Given the description of an element on the screen output the (x, y) to click on. 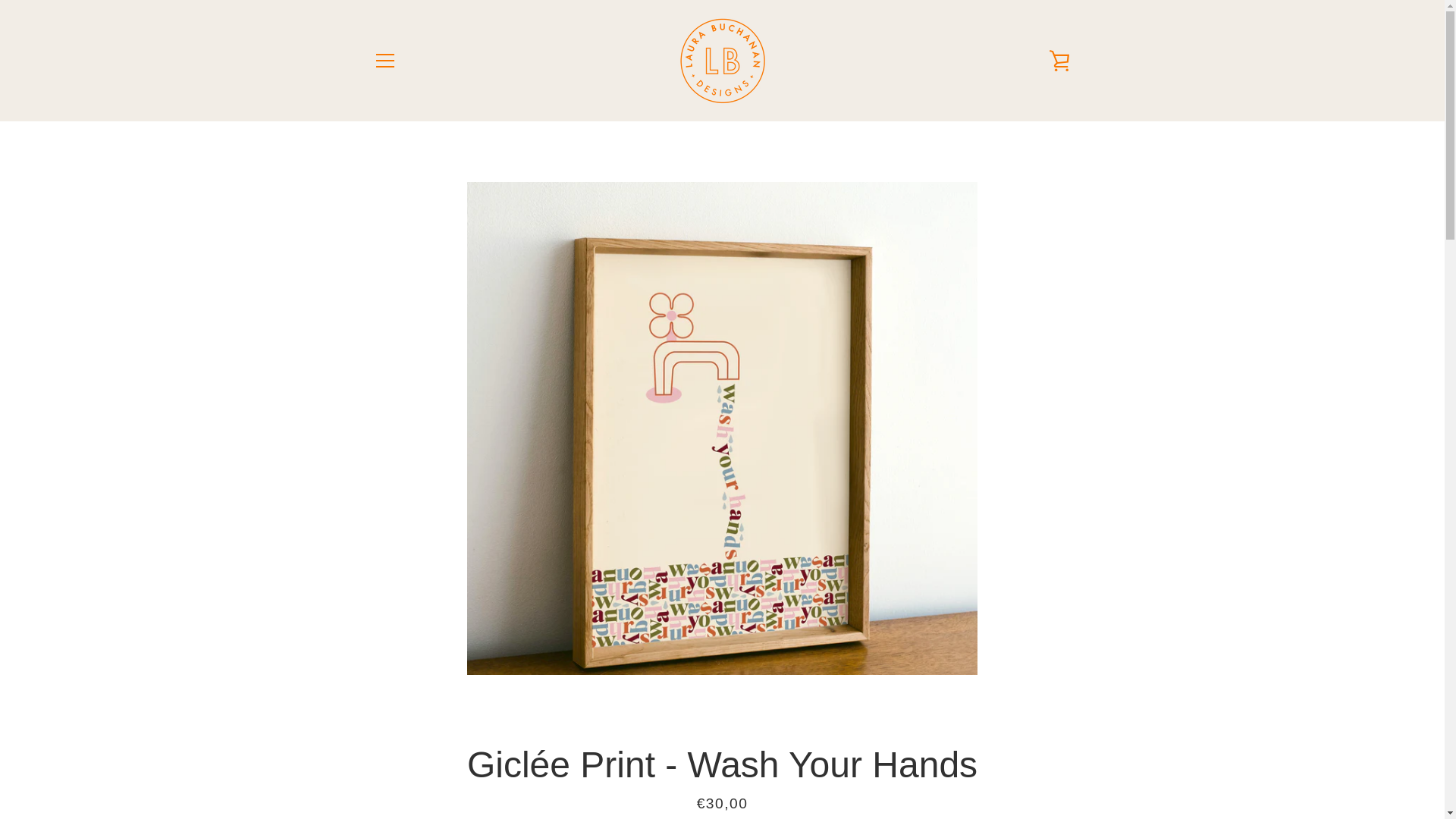
MENU (384, 60)
VIEW CART (1059, 60)
